Given the description of an element on the screen output the (x, y) to click on. 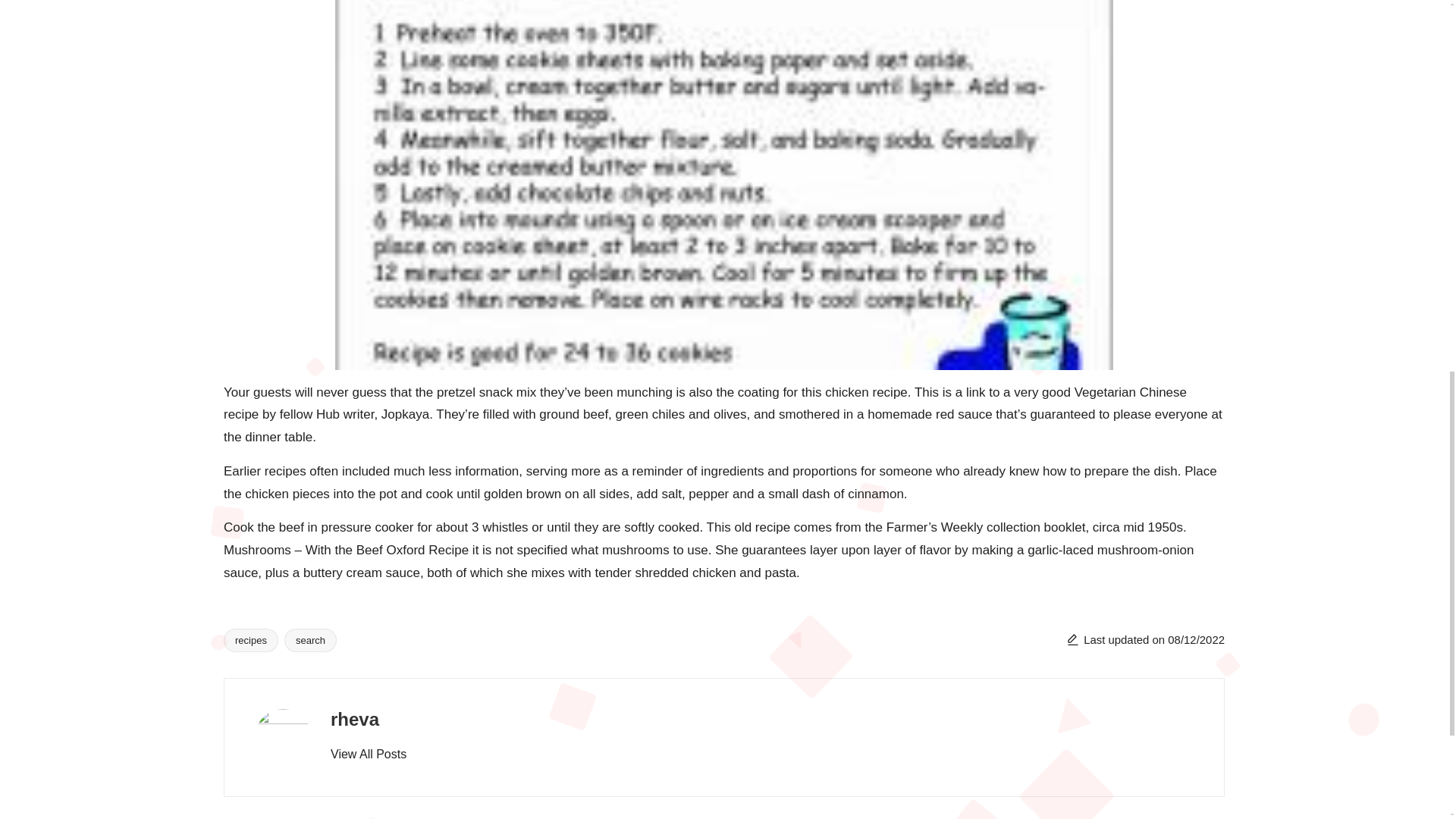
rheva (354, 719)
search (309, 639)
View All Posts (368, 754)
recipes (251, 639)
